Given the description of an element on the screen output the (x, y) to click on. 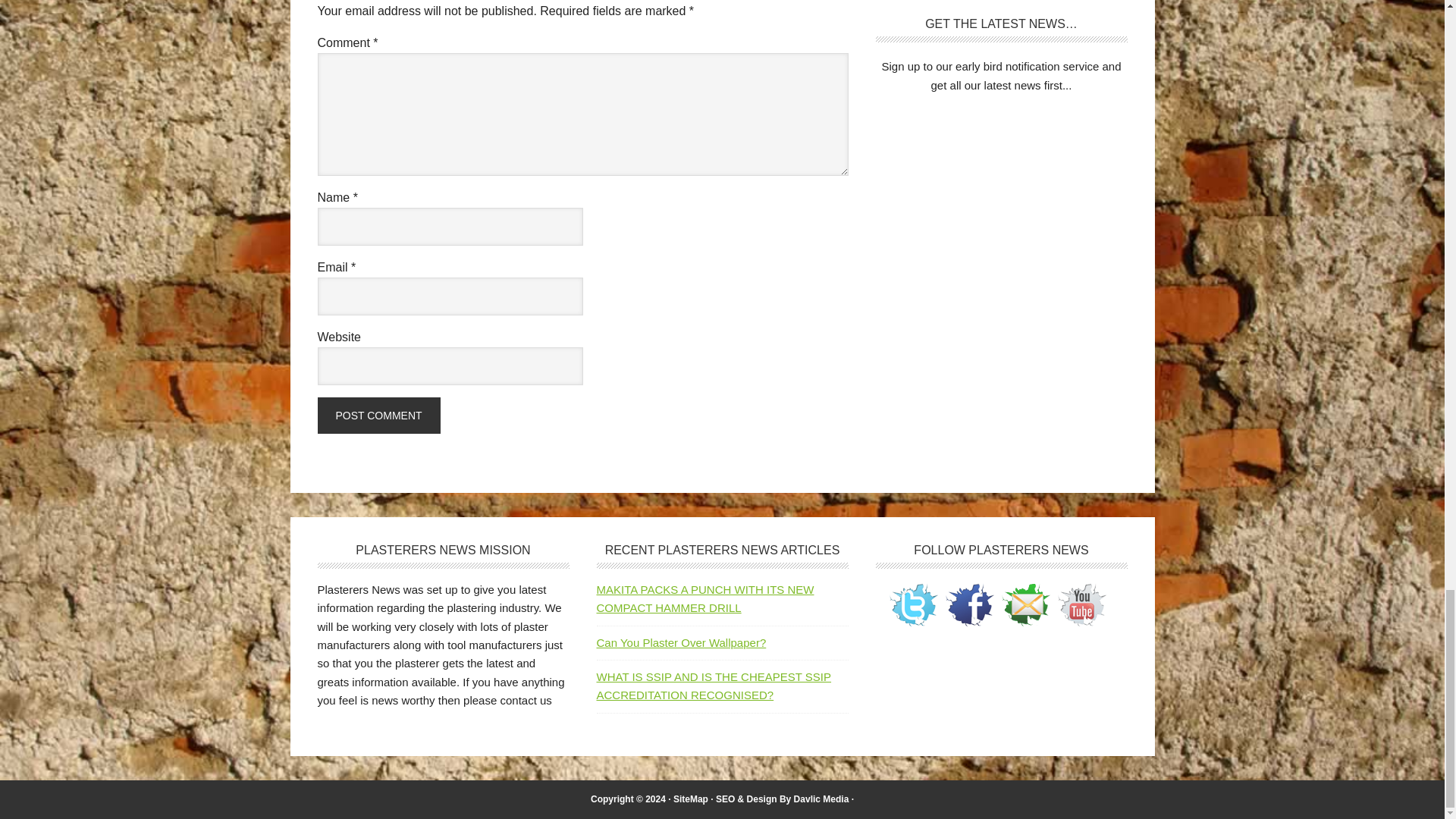
Post Comment (378, 415)
Follow Us on Facebook (968, 604)
Follow Us on YouTube (1081, 604)
Follow Us on Twitter (912, 604)
Follow Us on E-mail (1025, 604)
Post Comment (378, 415)
